Given the description of an element on the screen output the (x, y) to click on. 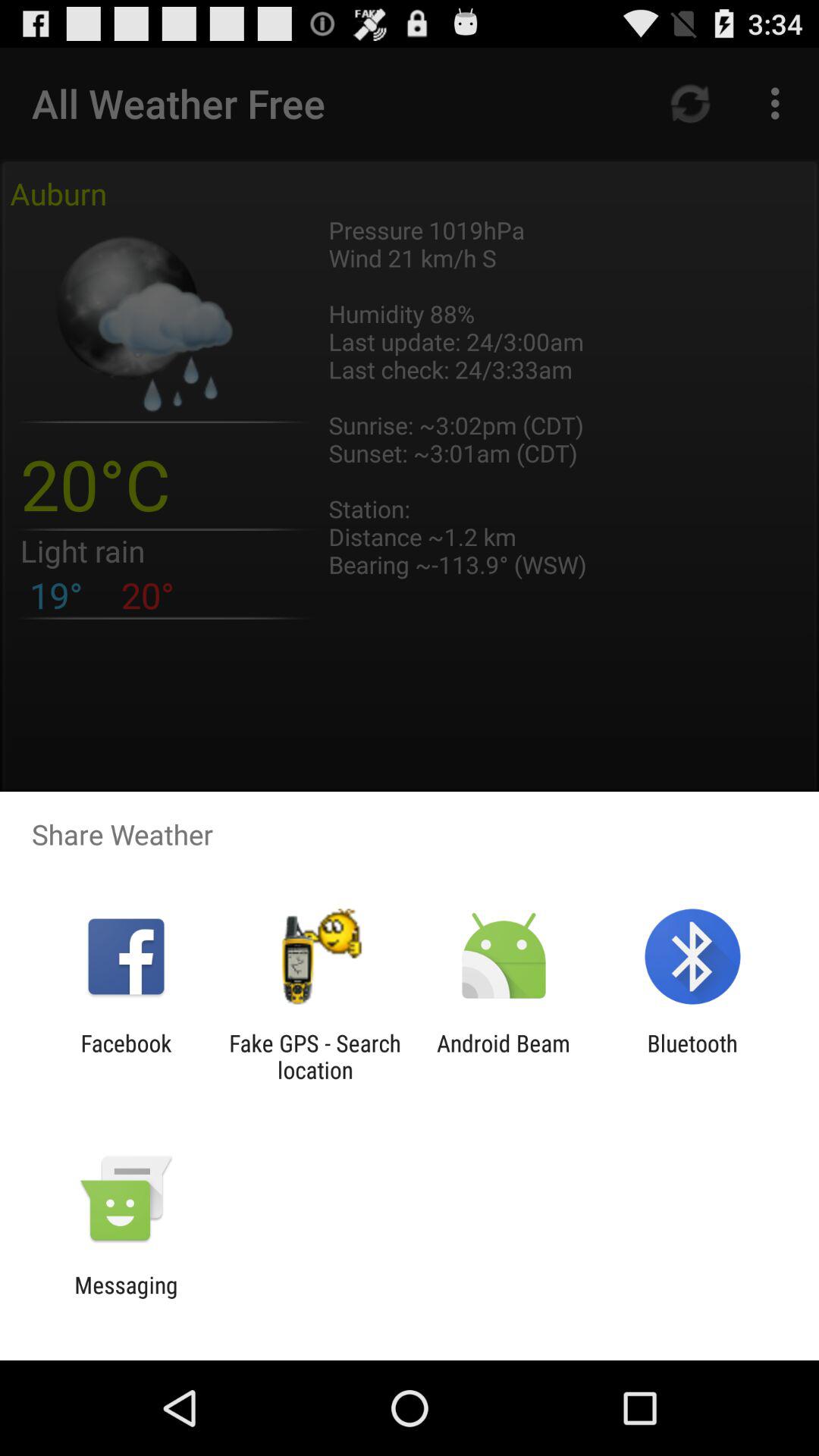
jump to the messaging app (126, 1298)
